Given the description of an element on the screen output the (x, y) to click on. 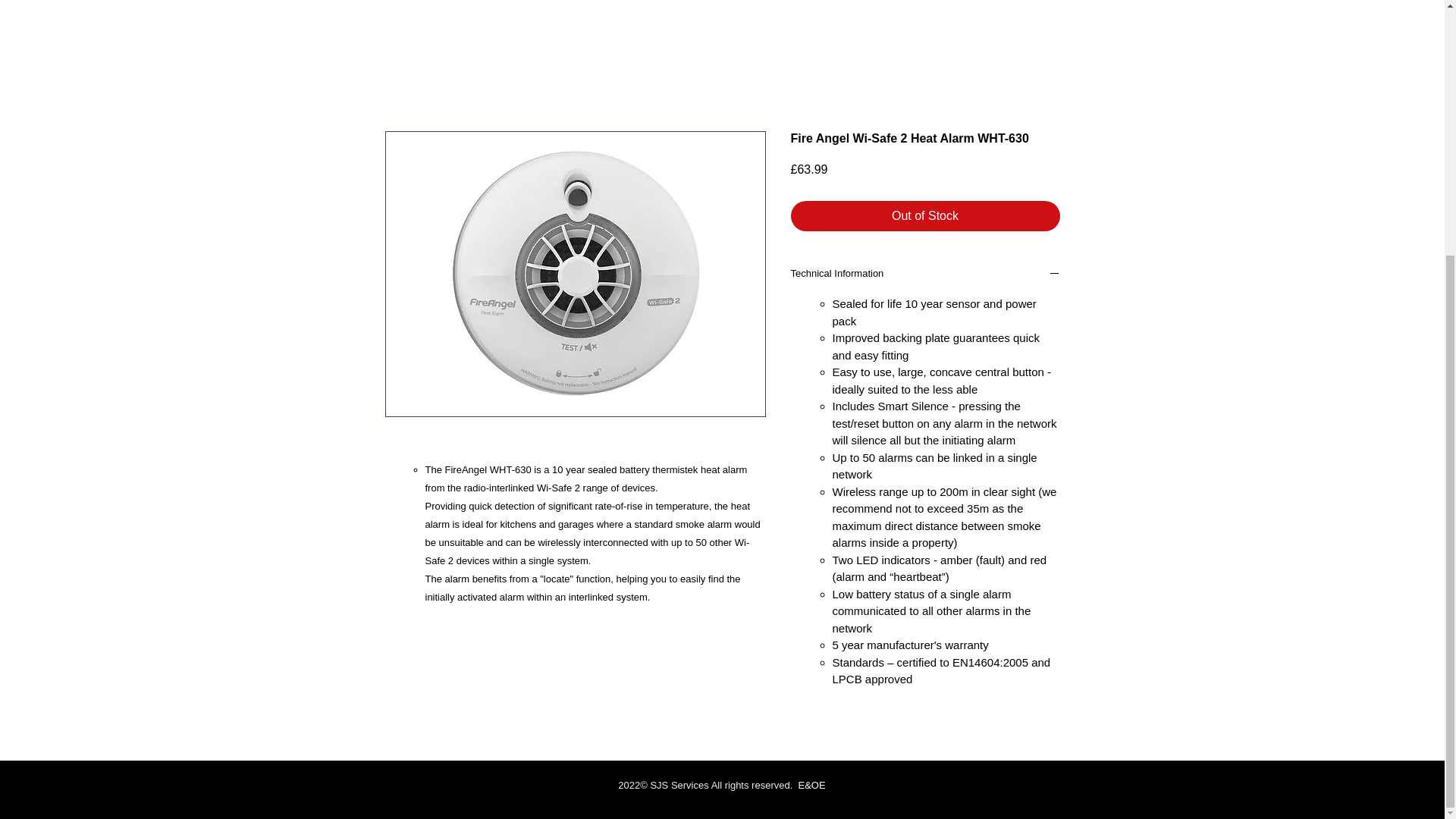
Out of Stock (924, 215)
Technical Information (924, 274)
